Given the description of an element on the screen output the (x, y) to click on. 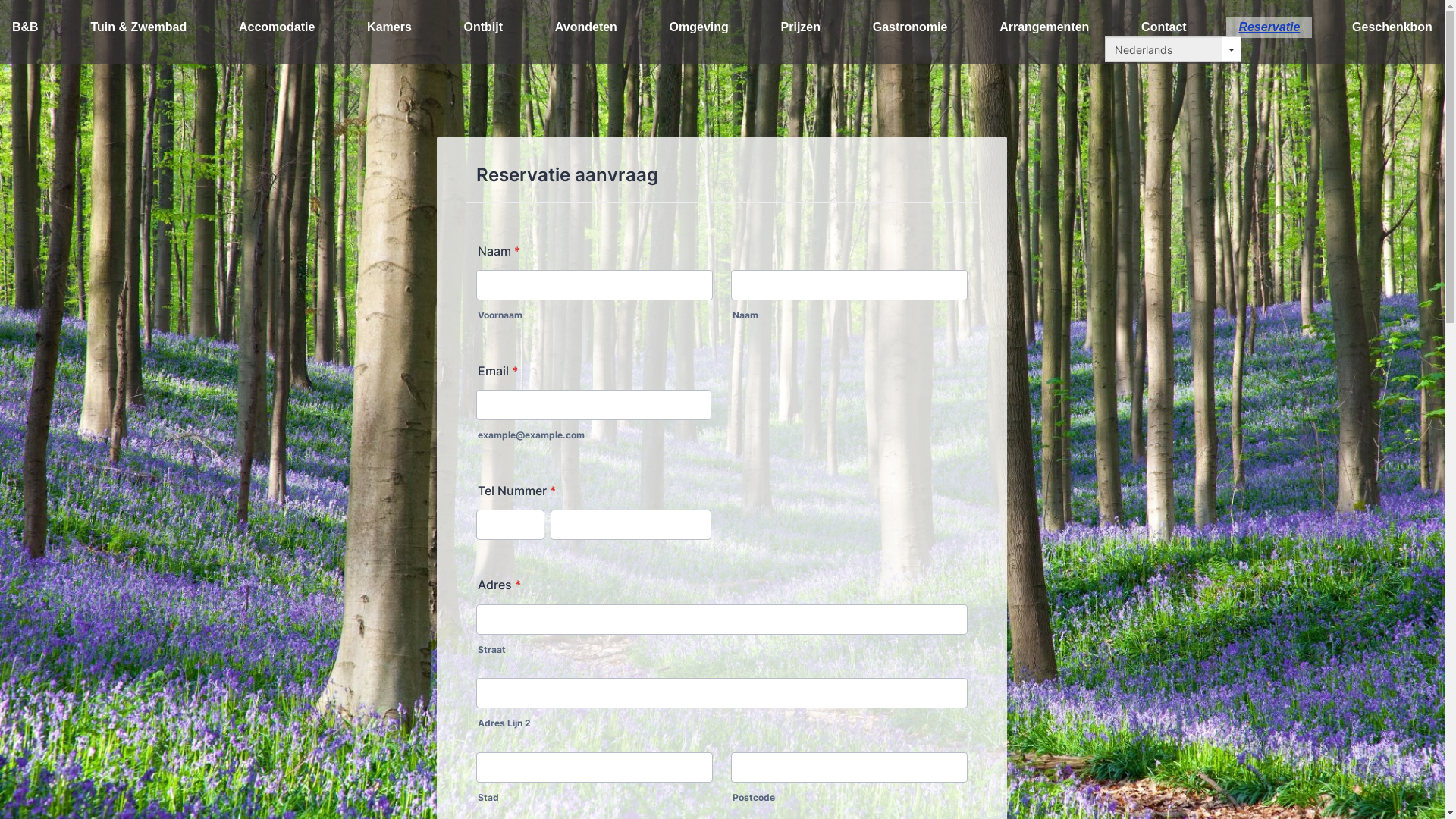
Tuin & Zwembad Element type: text (138, 26)
Reservatie Element type: text (1268, 26)
B&B Element type: text (25, 26)
Contact Element type: text (1163, 26)
Gastronomie Element type: text (910, 26)
Accomodatie Element type: text (276, 26)
Prijzen Element type: text (800, 26)
Arrangementen Element type: text (1044, 26)
Geschenkbon Element type: text (1391, 26)
Avondeten Element type: text (585, 26)
Kamers Element type: text (388, 26)
Ontbijt Element type: text (483, 26)
Omgeving Element type: text (698, 26)
